Given the description of an element on the screen output the (x, y) to click on. 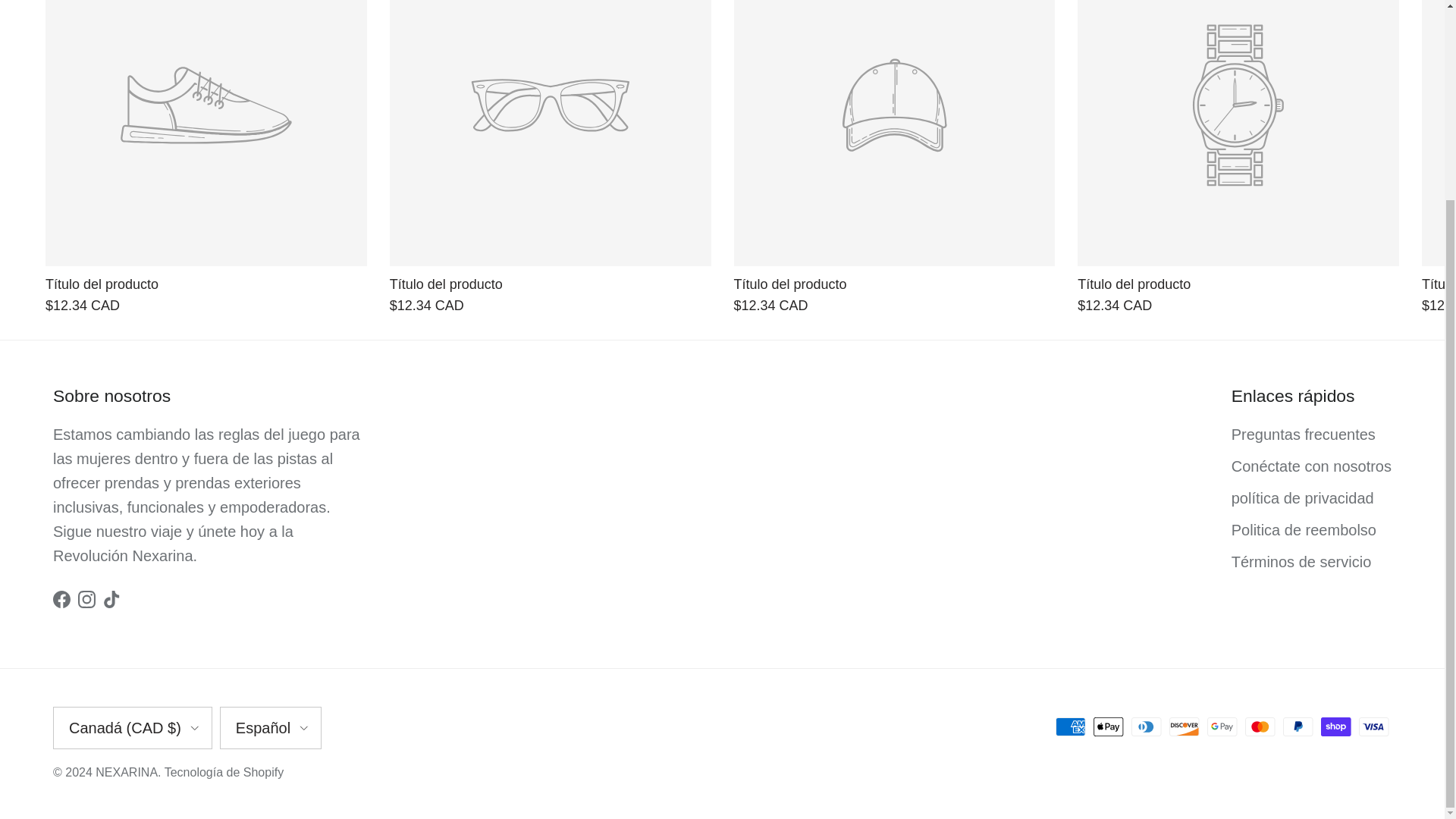
Diners Club (1146, 726)
Discover (1184, 726)
Apple Pay (1108, 726)
NEXARINA en Facebook (60, 599)
American Express (1070, 726)
NEXARINA en Instagram (87, 599)
NEXARINA en TikTok (111, 599)
